Given the description of an element on the screen output the (x, y) to click on. 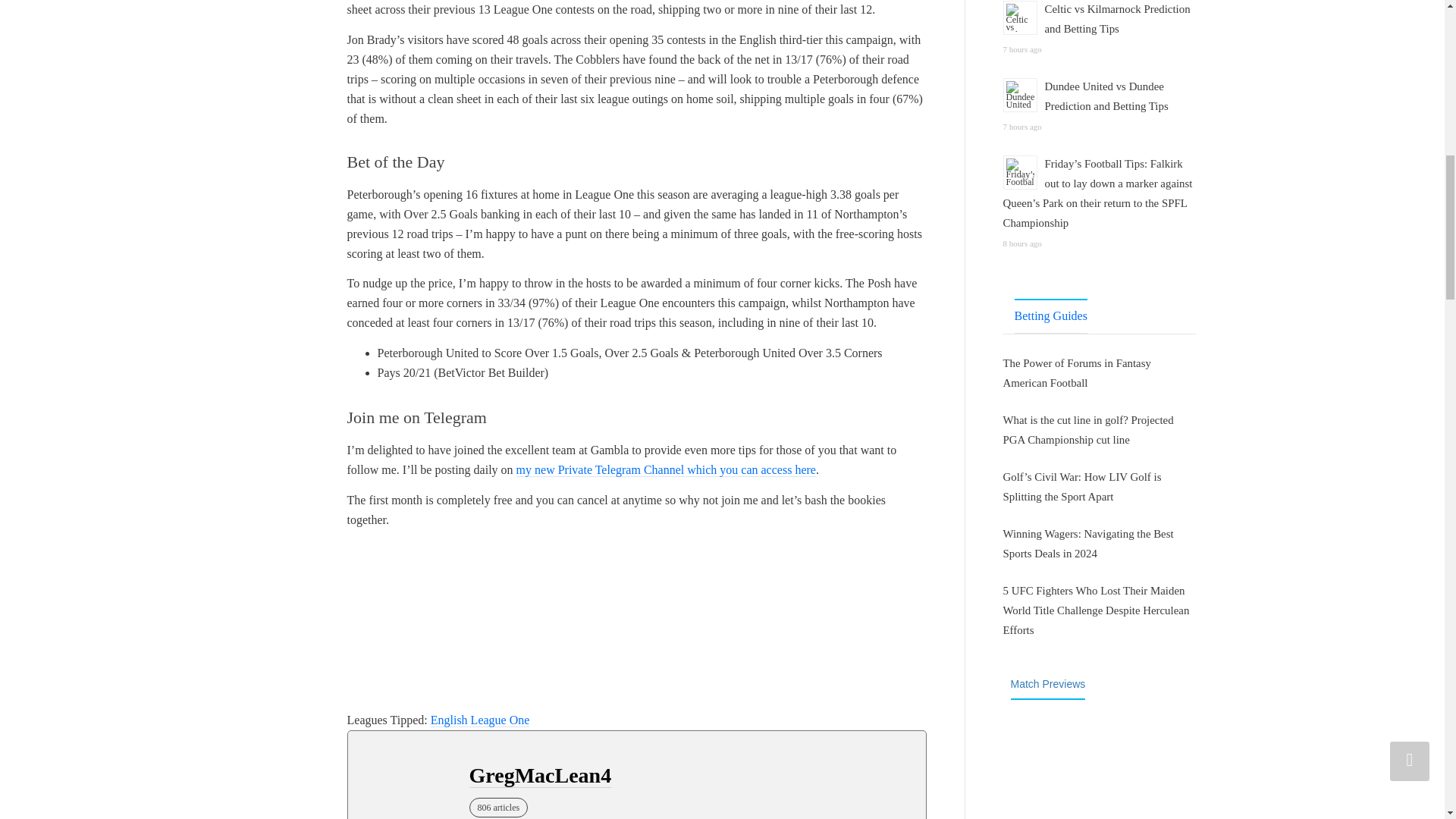
English League One (479, 720)
GregMacLean4 (539, 775)
my new Private Telegram Channel which you can access here (665, 469)
